Given the description of an element on the screen output the (x, y) to click on. 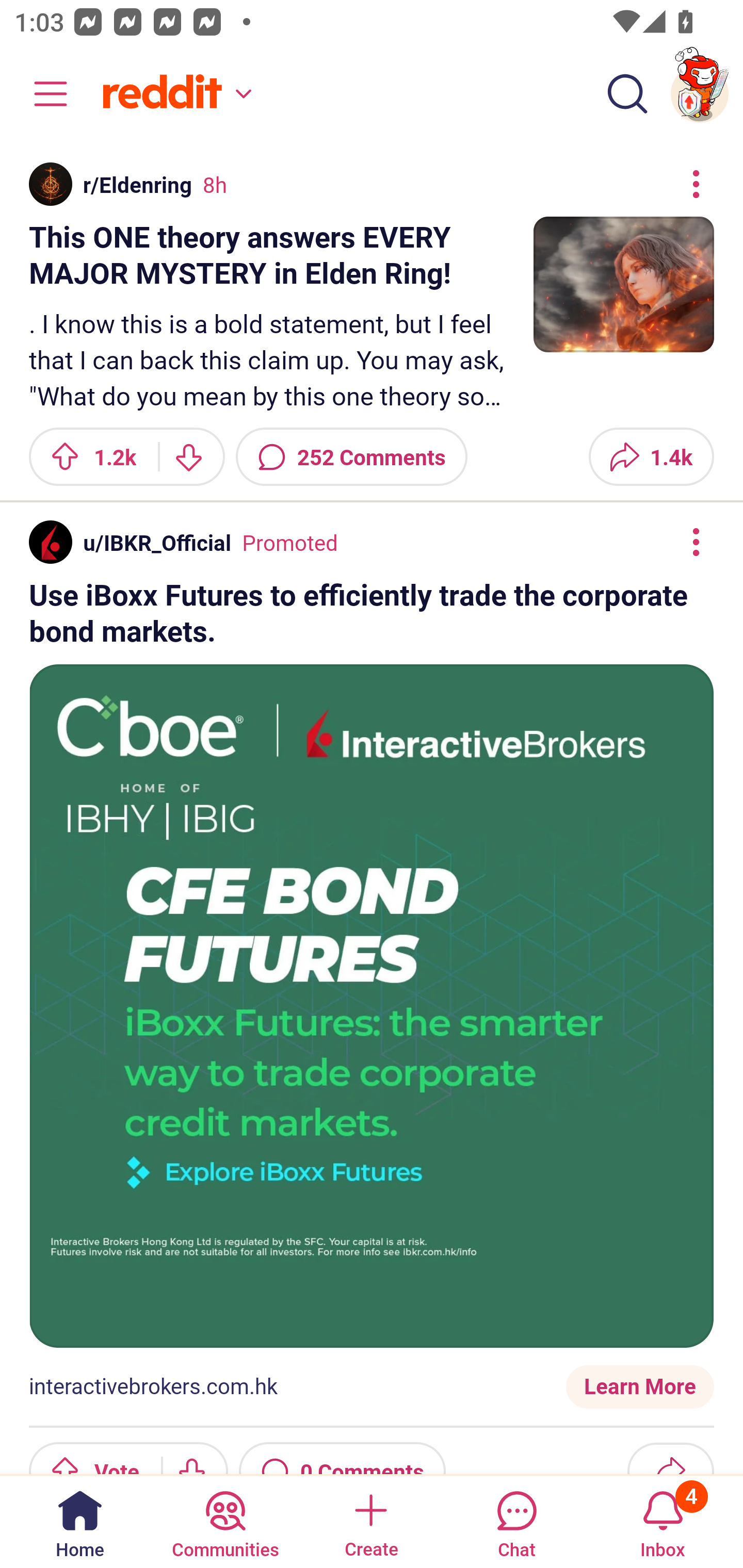
Search (626, 93)
TestAppium002 account (699, 93)
Community menu (41, 94)
Home feed (173, 94)
Home (80, 1520)
Communities (225, 1520)
Create a post Create (370, 1520)
Chat (516, 1520)
Inbox, has 4 notifications 4 Inbox (662, 1520)
